Given the description of an element on the screen output the (x, y) to click on. 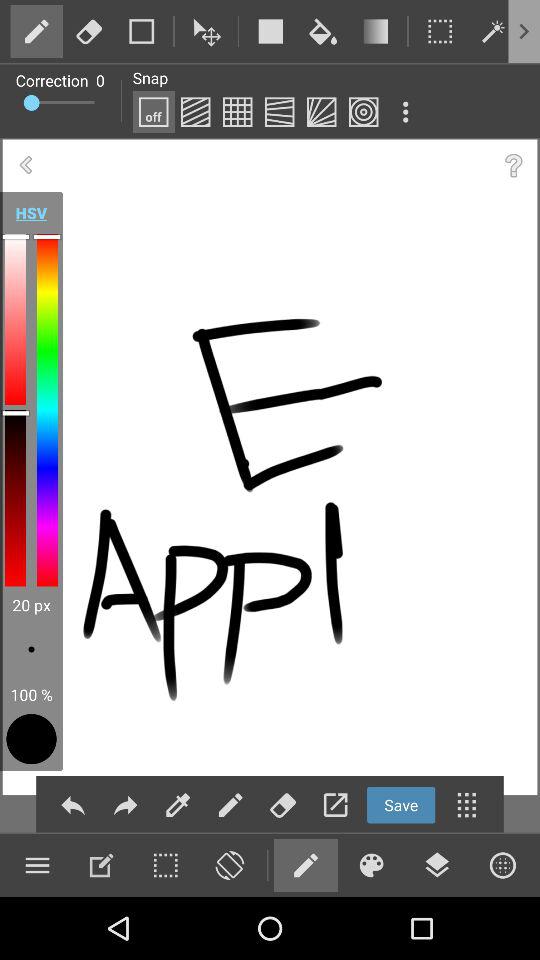
pox (237, 112)
